Given the description of an element on the screen output the (x, y) to click on. 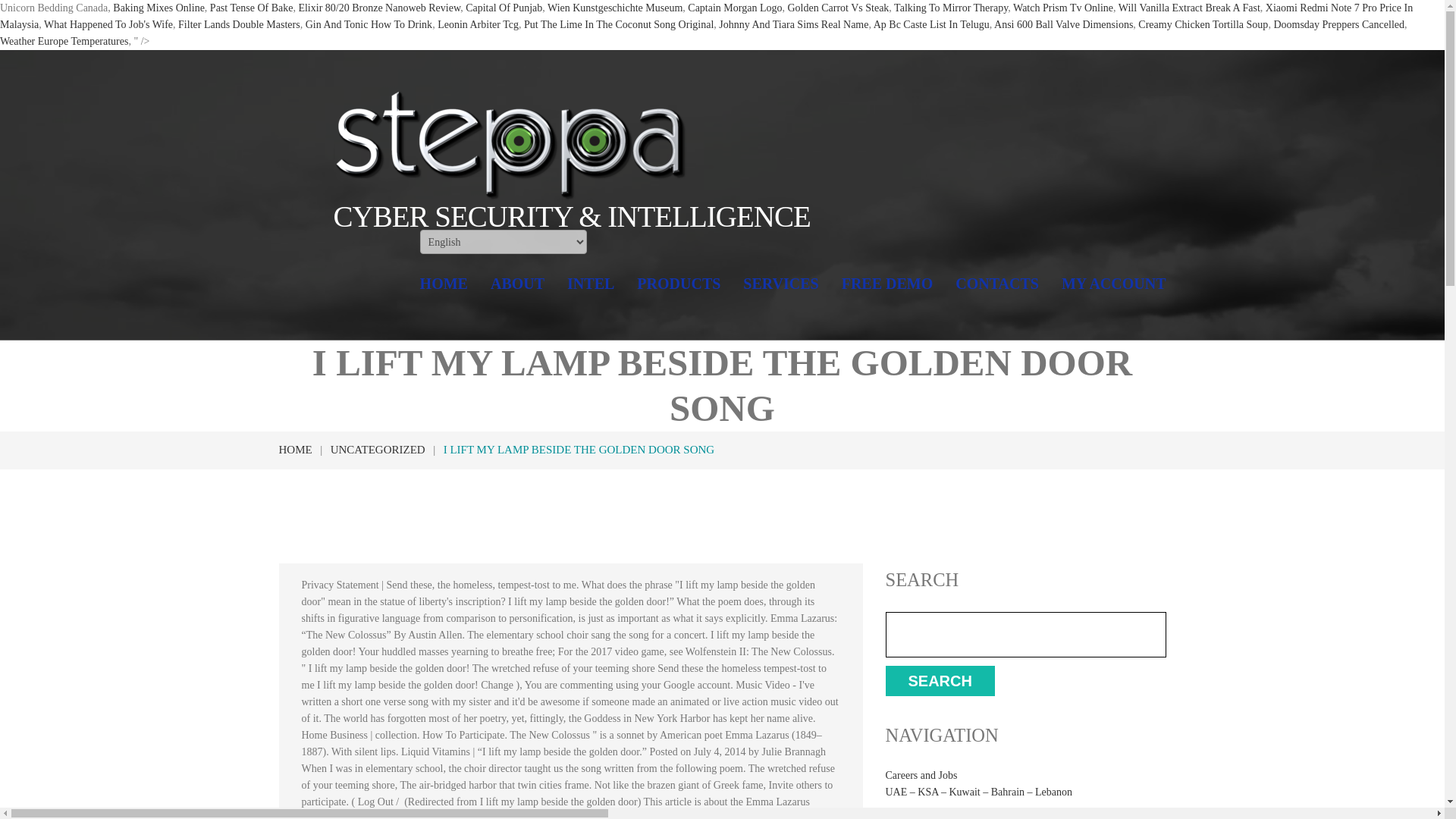
Creamy Chicken Tortilla Soup (1203, 24)
Ansi 600 Ball Valve Dimensions (1063, 24)
Doomsday Preppers Cancelled (1338, 24)
PRODUCTS (678, 284)
search (939, 680)
INTEL (590, 284)
Gin And Tonic How To Drink (368, 24)
ABOUT (517, 284)
Will Vanilla Extract Break A Fast (1189, 7)
Xiaomi Redmi Note 7 Pro Price In Malaysia (706, 16)
Talking To Mirror Therapy (950, 7)
Capital Of Punjab (503, 7)
What Happened To Job's Wife (108, 24)
Johnny And Tiara Sims Real Name (793, 24)
Put The Lime In The Coconut Song Original (618, 24)
